Given the description of an element on the screen output the (x, y) to click on. 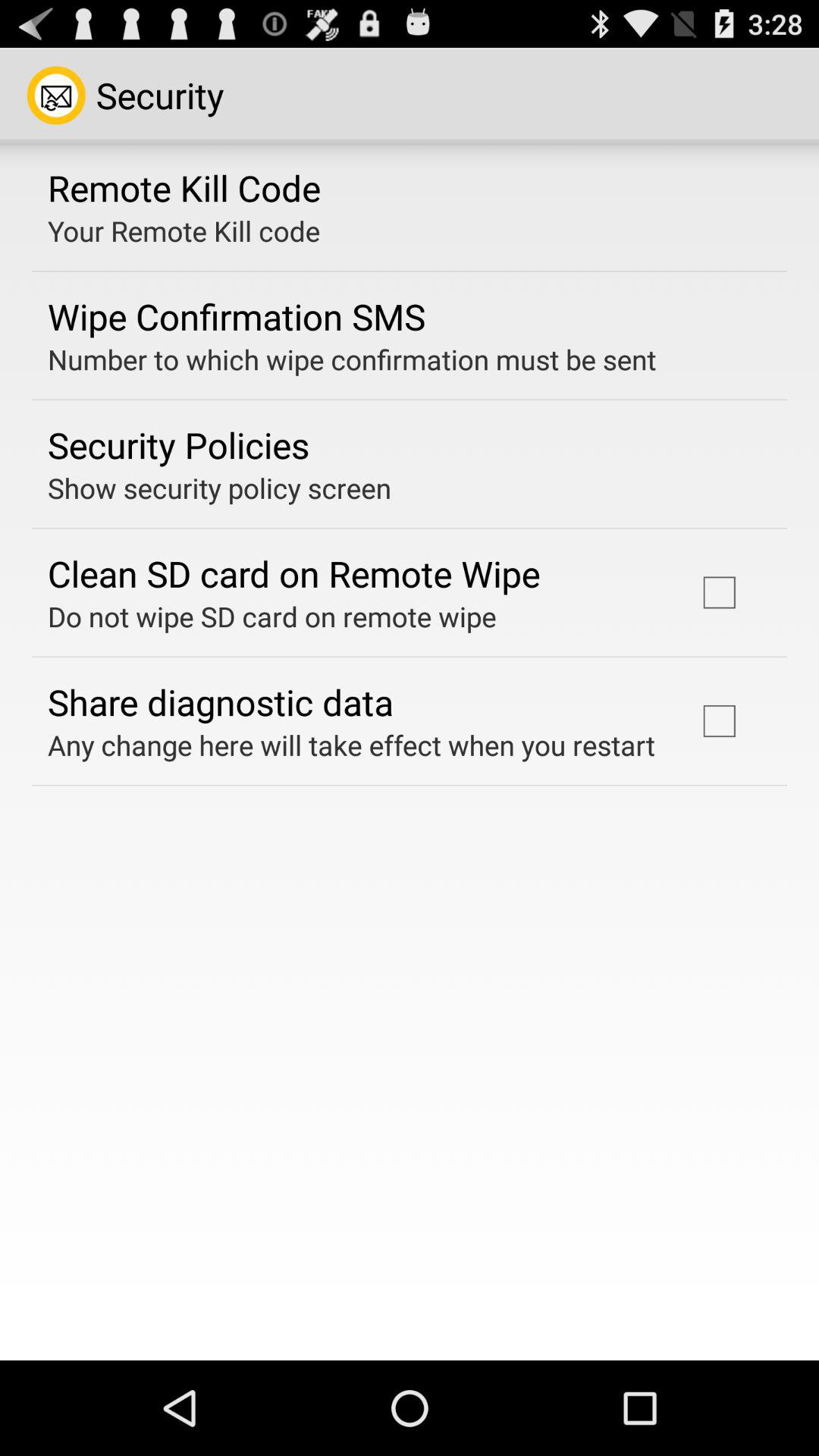
jump to show security policy icon (219, 487)
